Given the description of an element on the screen output the (x, y) to click on. 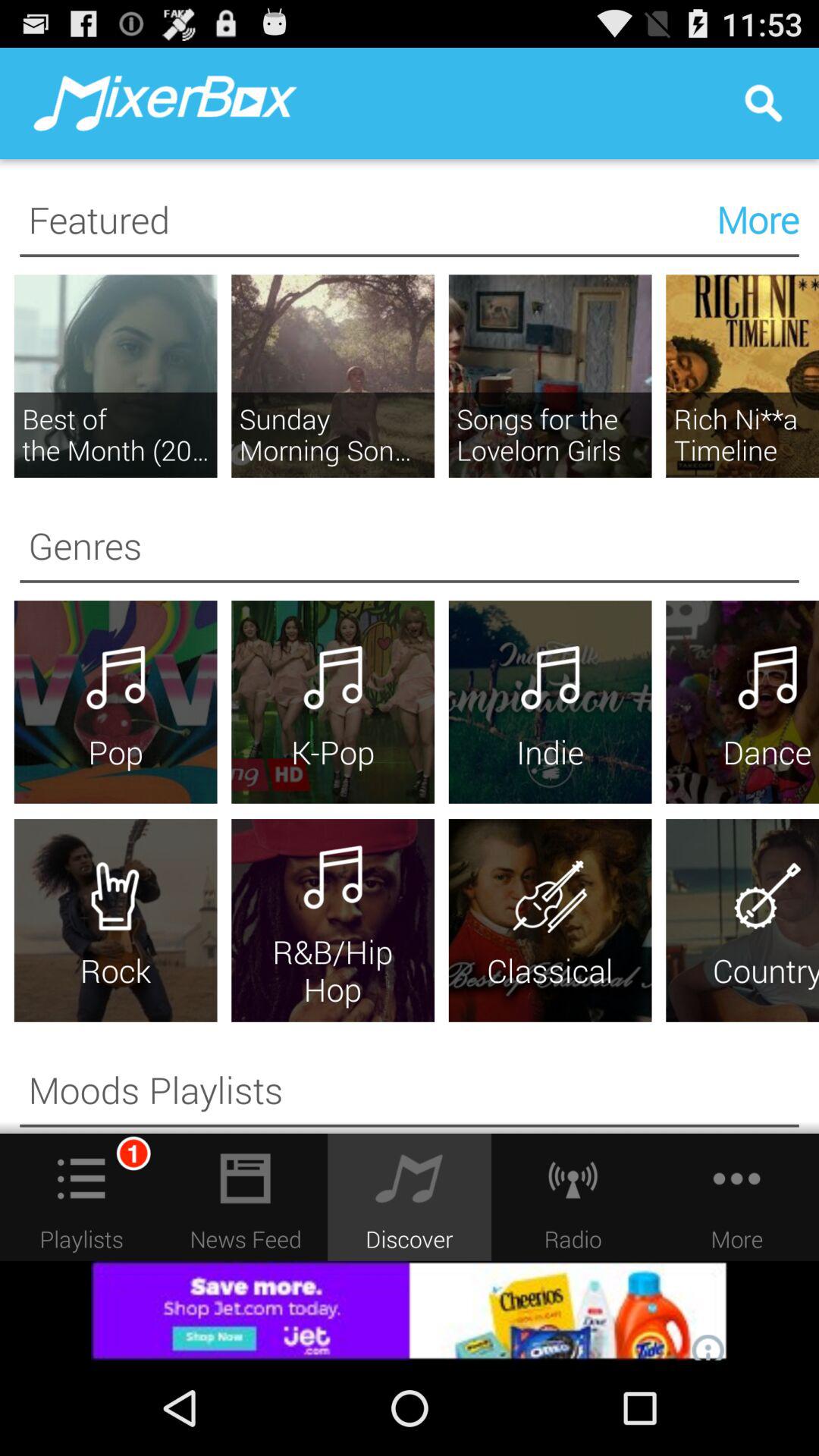
go to icon above the text dance (766, 680)
